Given the description of an element on the screen output the (x, y) to click on. 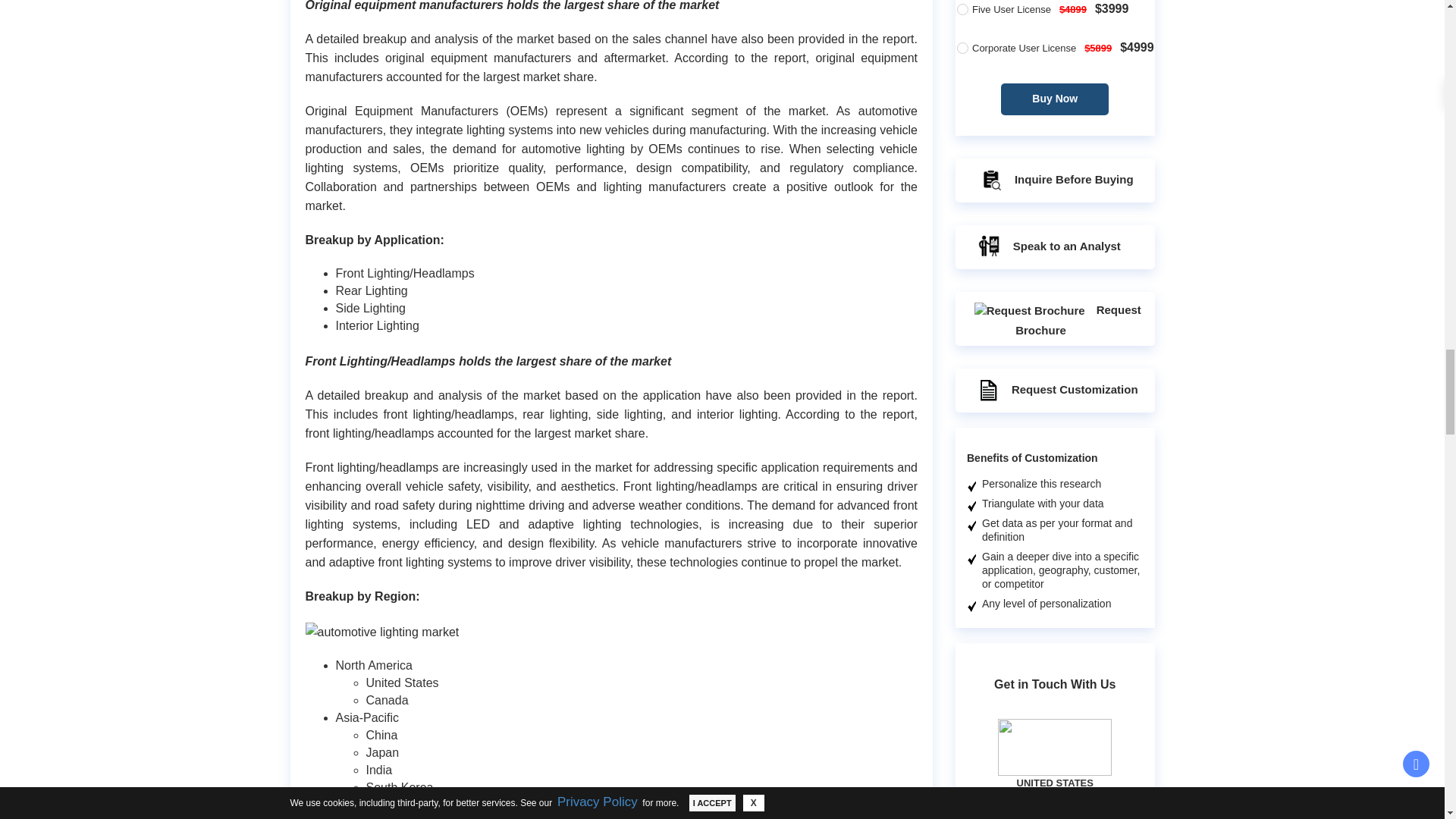
Know more (1081, 201)
Know more (1081, 746)
Know more (1081, 474)
